Given the description of an element on the screen output the (x, y) to click on. 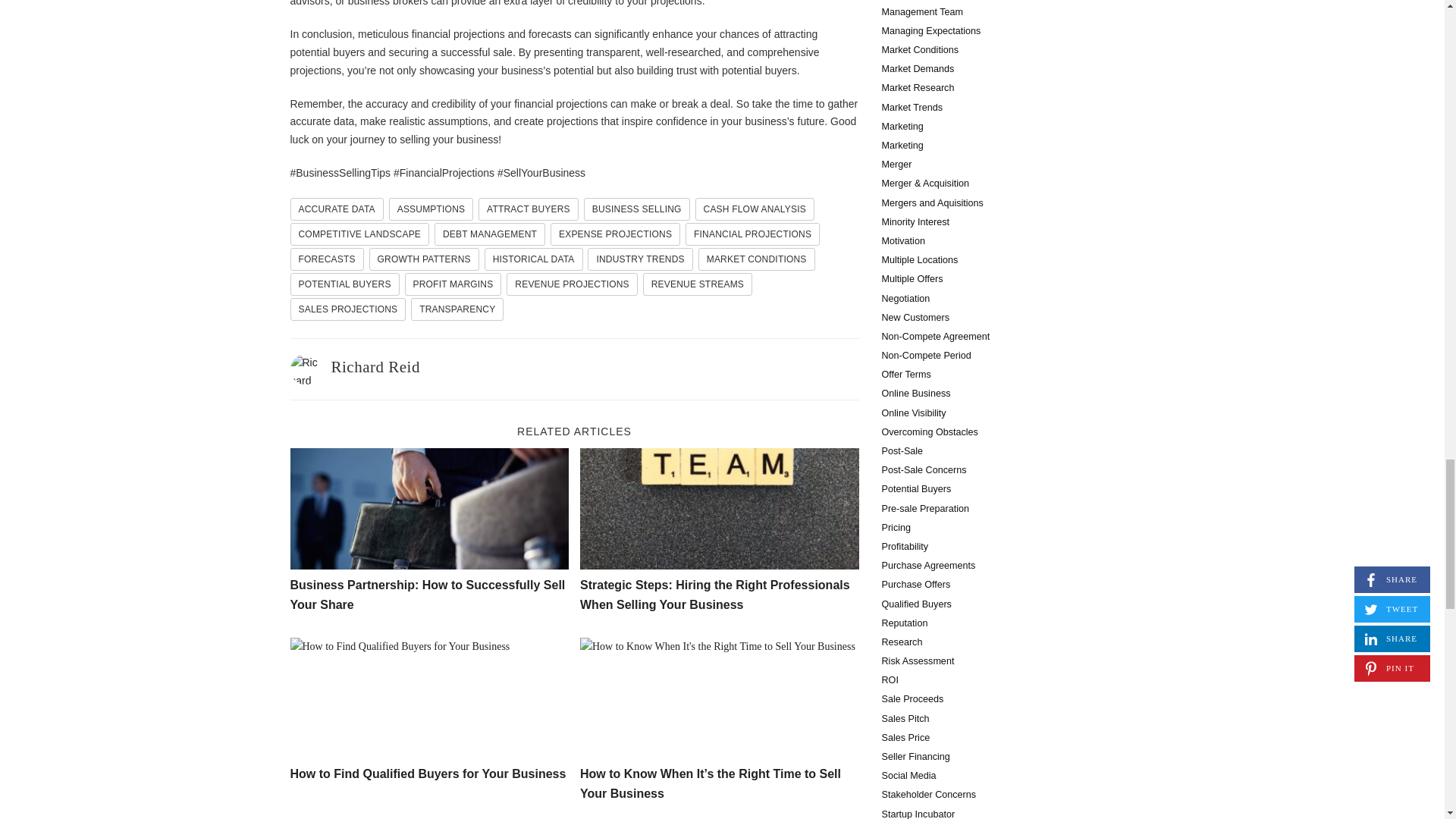
FORECASTS (325, 259)
GROWTH PATTERNS (424, 259)
assumptions Tag (431, 209)
forecasts Tag (325, 259)
FINANCIAL PROJECTIONS (752, 233)
financial projections Tag (752, 233)
competitive landscape Tag (359, 233)
INDUSTRY TRENDS (640, 259)
POTENTIAL BUYERS (343, 283)
ATTRACT BUYERS (528, 209)
DEBT MANAGEMENT (488, 233)
ACCURATE DATA (335, 209)
CASH FLOW ANALYSIS (754, 209)
Business Partnership: How to Successfully Sell Your Share (426, 594)
BUSINESS SELLING (636, 209)
